Given the description of an element on the screen output the (x, y) to click on. 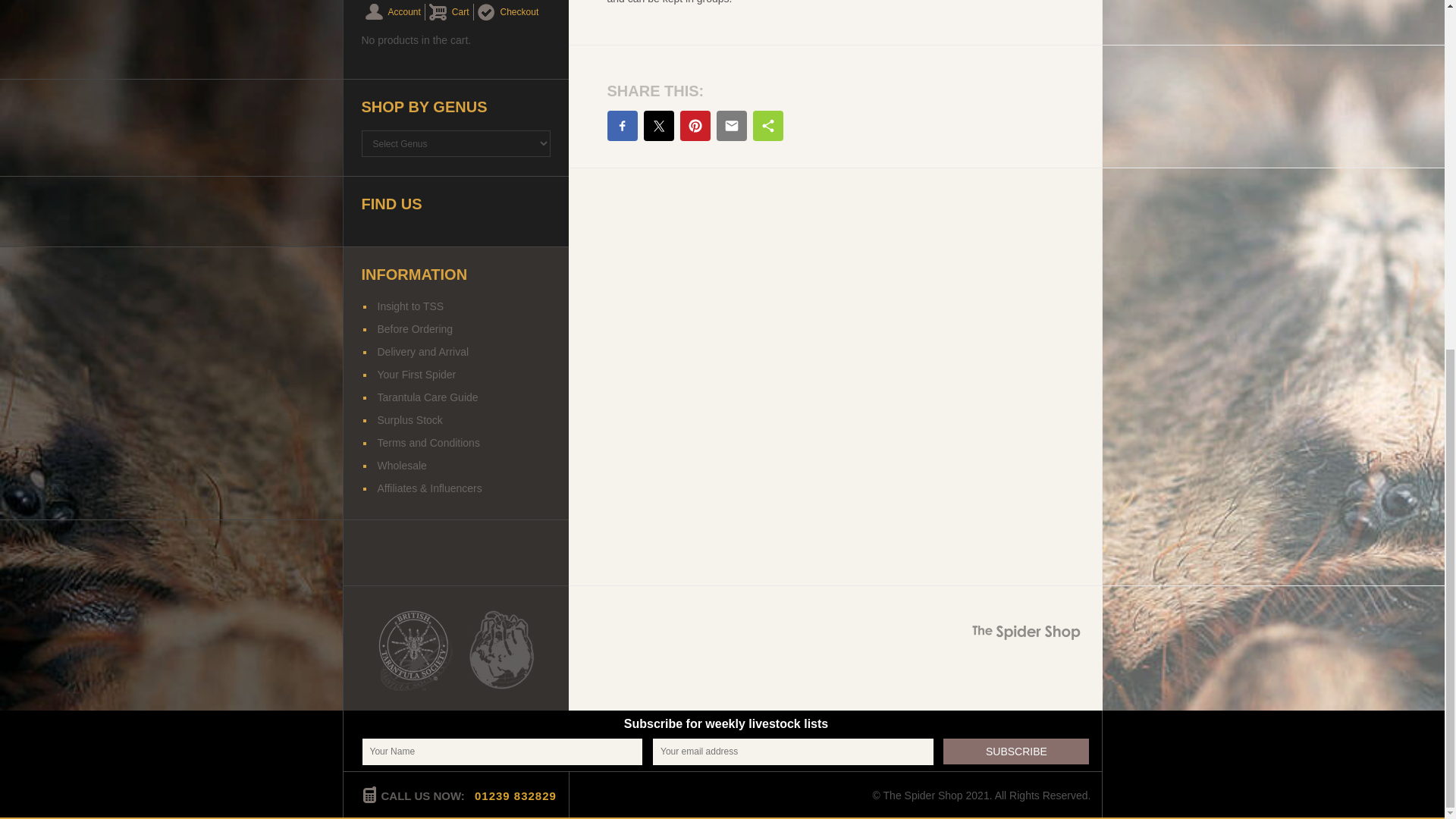
My Account (392, 12)
Subscribe (1016, 751)
